Given the description of an element on the screen output the (x, y) to click on. 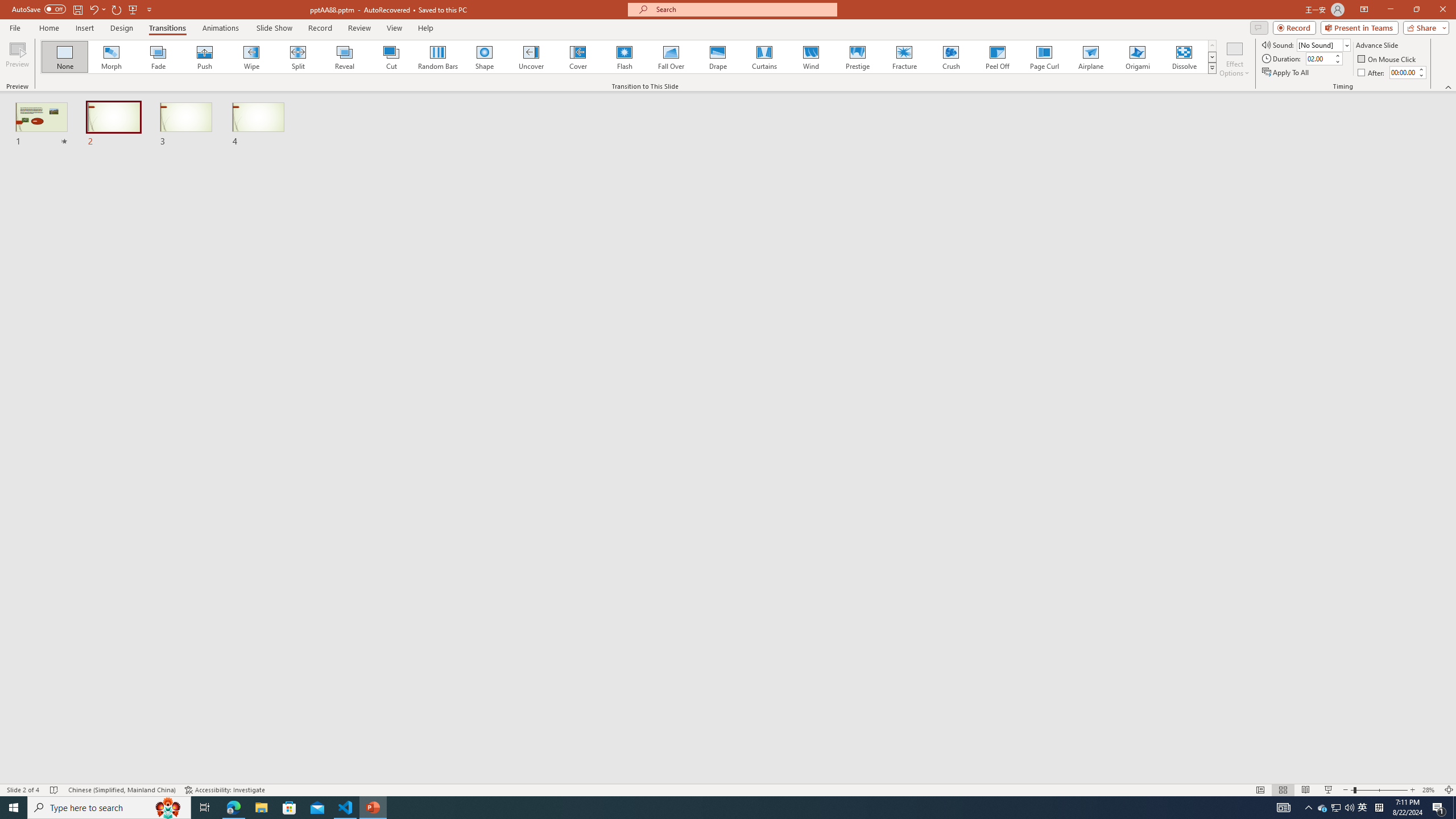
Transition Effects (1212, 67)
Zoom 28% (1430, 790)
Wipe (251, 56)
Peel Off (997, 56)
Effect Options (1234, 58)
More (1420, 69)
AutomationID: AnimationTransitionGallery (628, 56)
Sound (1324, 44)
Uncover (531, 56)
